Given the description of an element on the screen output the (x, y) to click on. 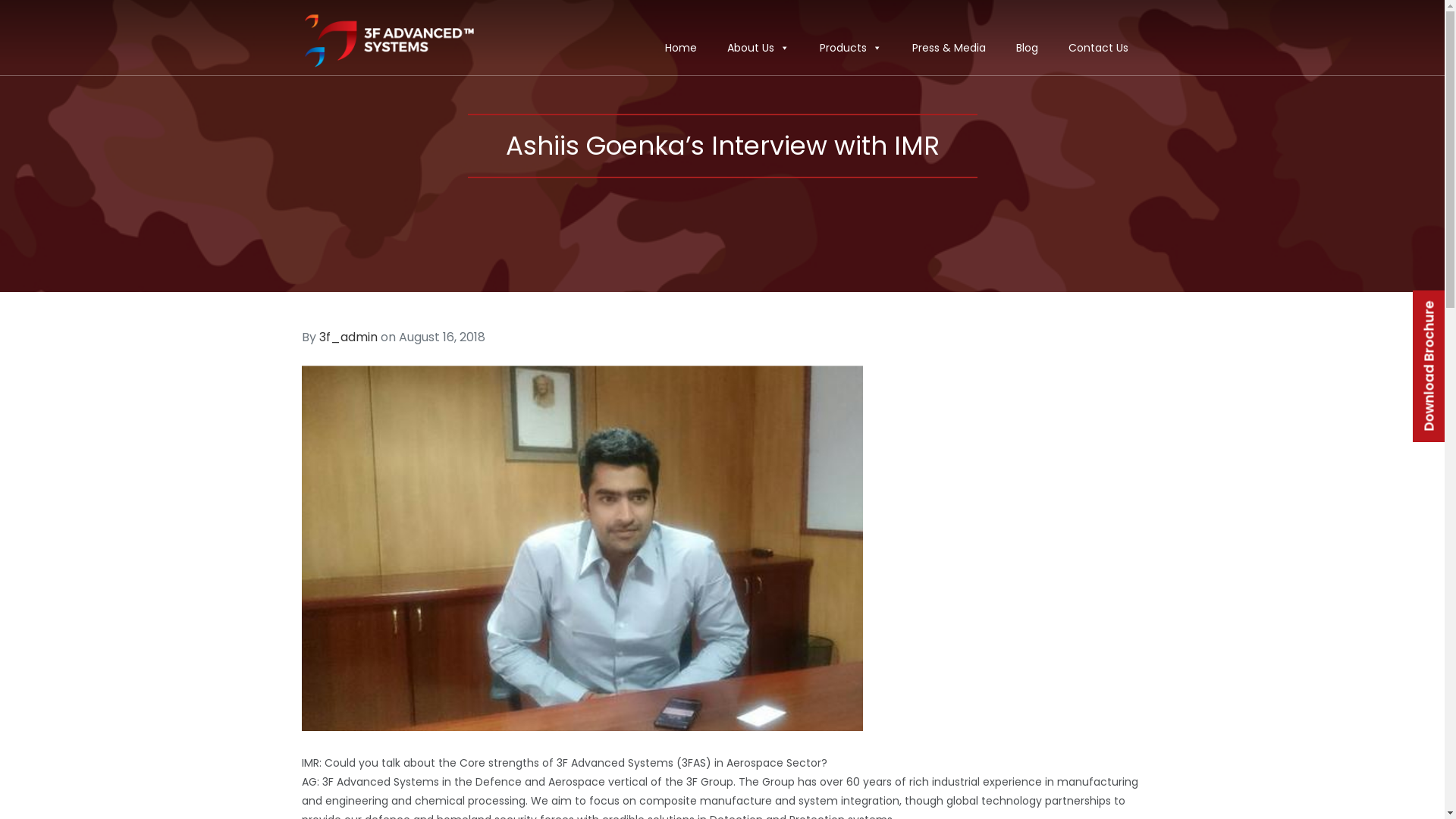
3f_admin Element type: text (347, 336)
Products Element type: text (849, 46)
Press & Media Element type: text (948, 46)
Blog Element type: text (1027, 46)
About Us Element type: text (757, 46)
Contact Us Element type: text (1097, 46)
Home Element type: text (680, 46)
3F Advanced System Element type: hover (392, 40)
